Given the description of an element on the screen output the (x, y) to click on. 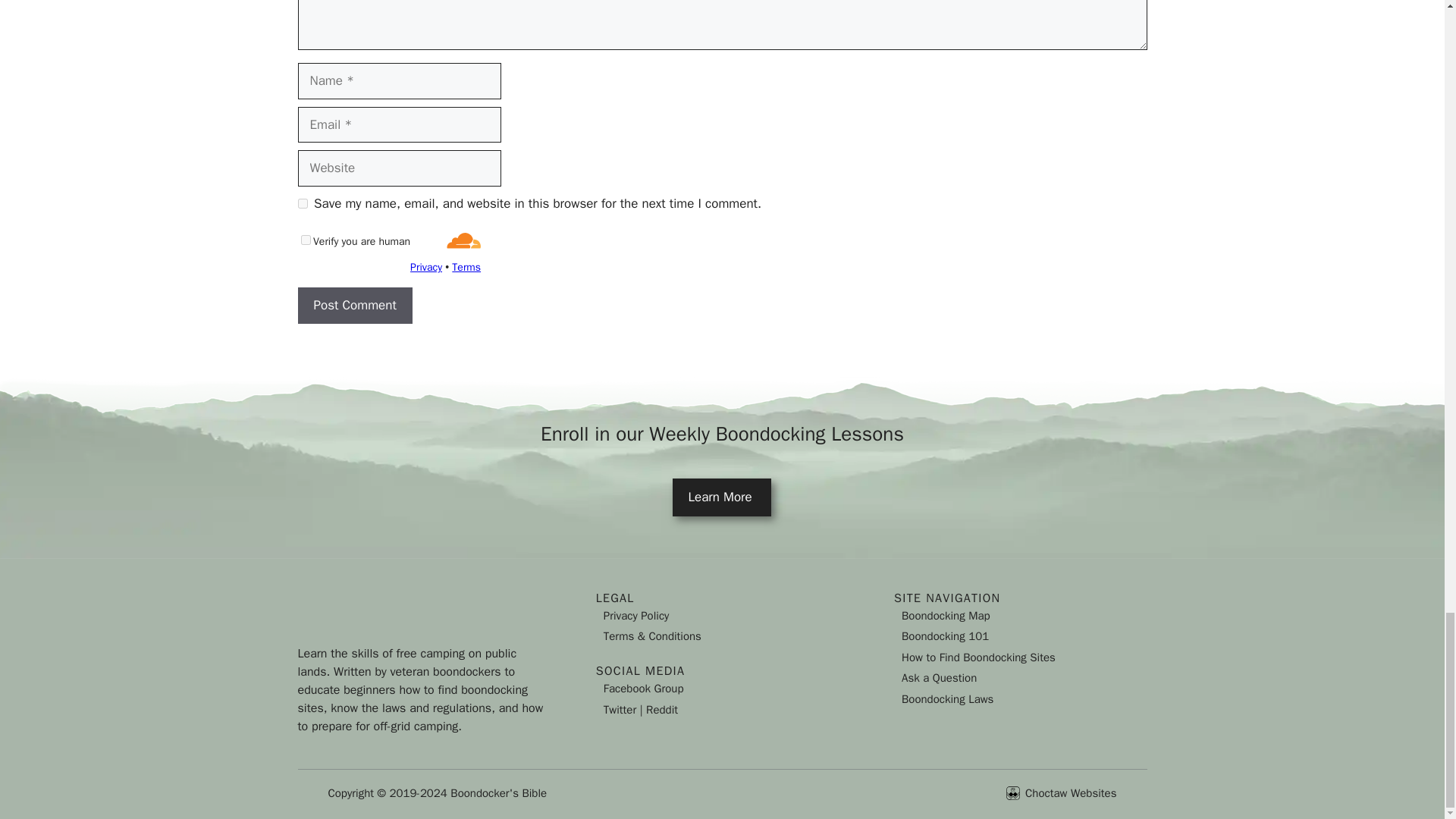
Learn More (721, 497)
Facebook Group (644, 688)
Post Comment (354, 305)
Boondocking 101 (944, 635)
Privacy Policy (636, 615)
Reddit (662, 709)
Post Comment (354, 305)
How to Find Boondocking Sites (978, 657)
Boondocking Map (945, 615)
yes (302, 203)
